Given the description of an element on the screen output the (x, y) to click on. 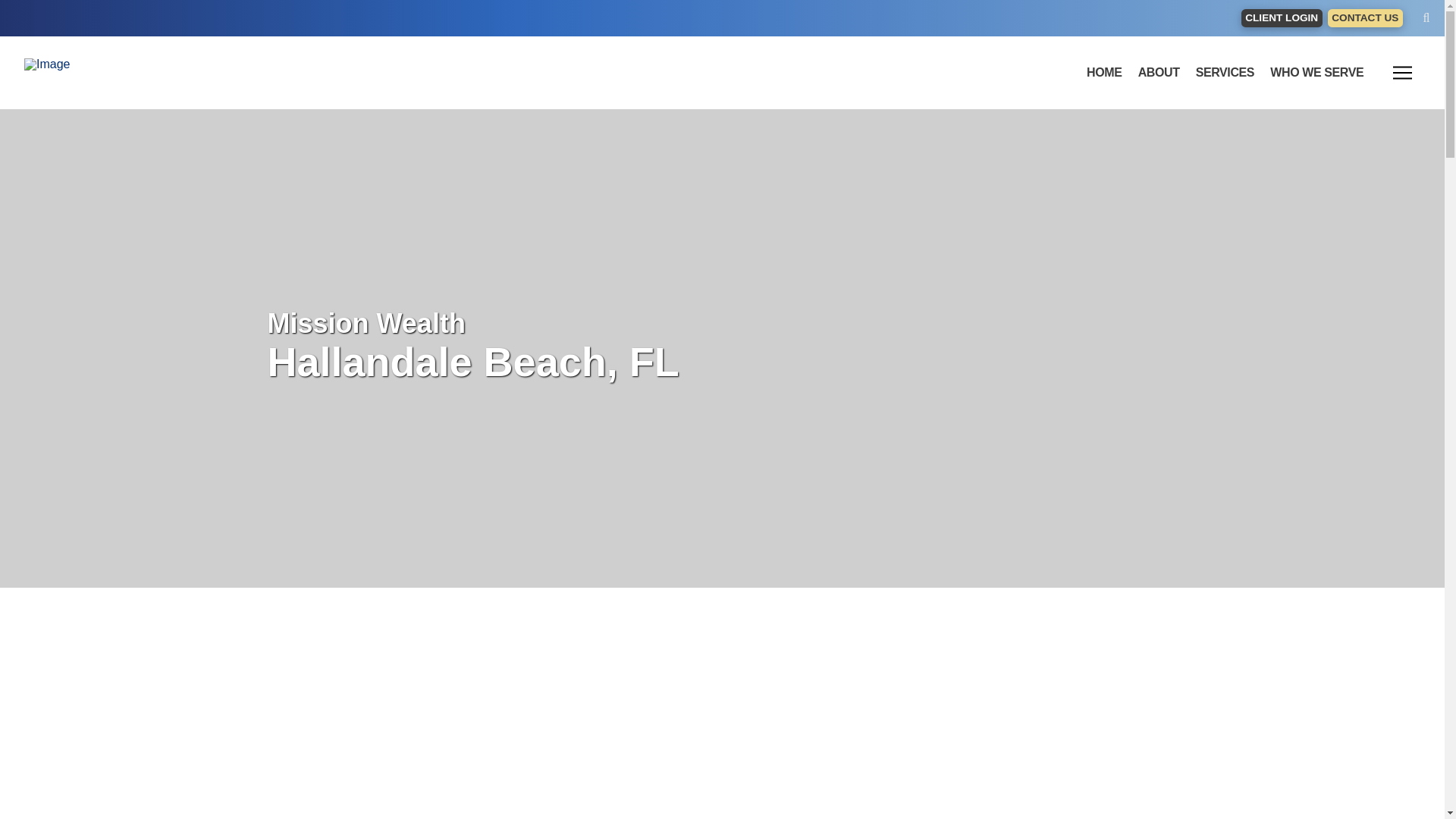
CONTACT US (1365, 18)
SERVICES (1225, 72)
WHO WE SERVE (1316, 72)
CLIENT LOGIN (1281, 18)
